Given the description of an element on the screen output the (x, y) to click on. 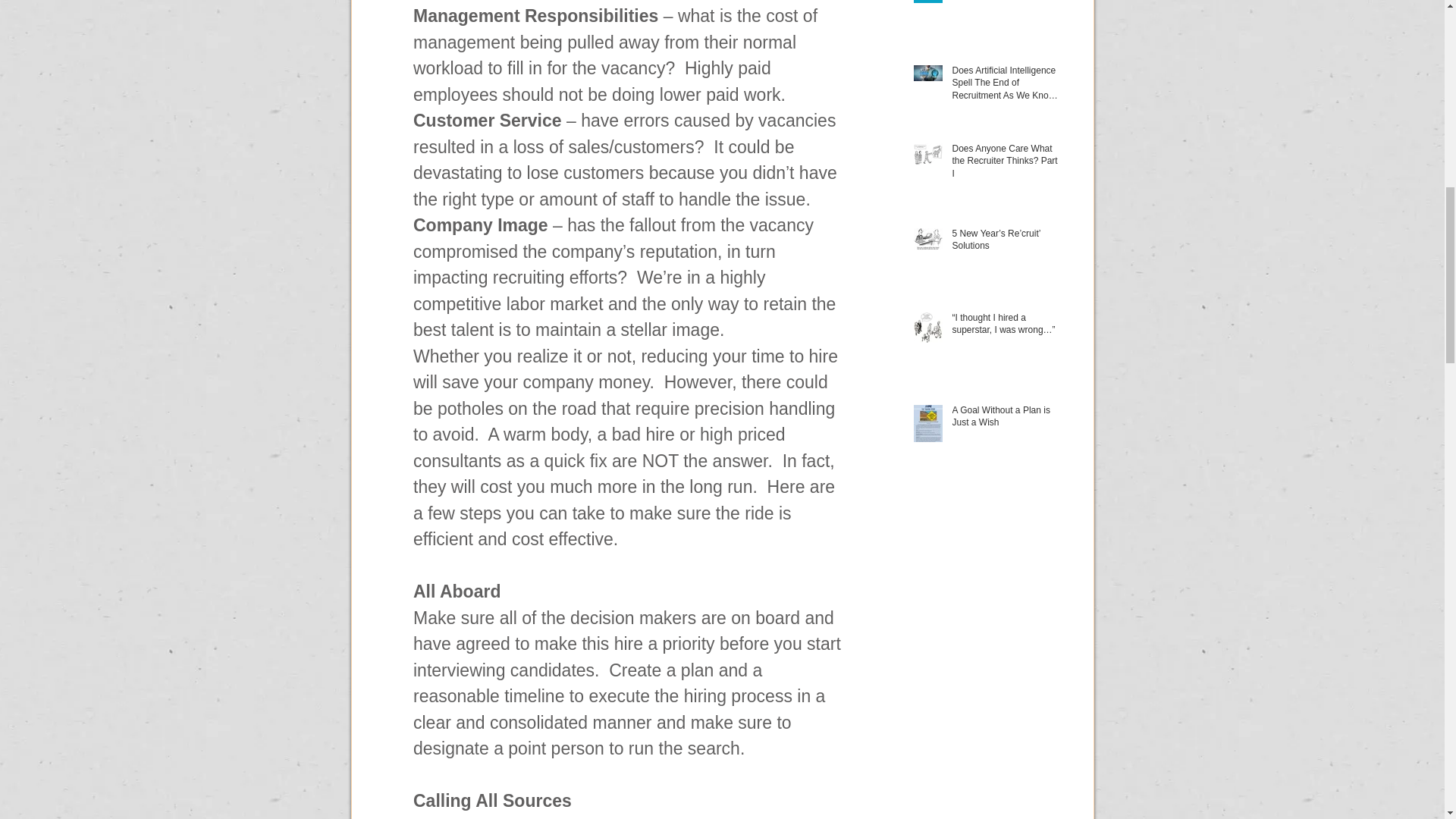
A Goal Without a Plan is Just a Wish (1006, 419)
Does Anyone Care What the Recruiter Thinks? Part I (1006, 164)
Do You Know How Recruitment Works? (1006, 1)
